Given the description of an element on the screen output the (x, y) to click on. 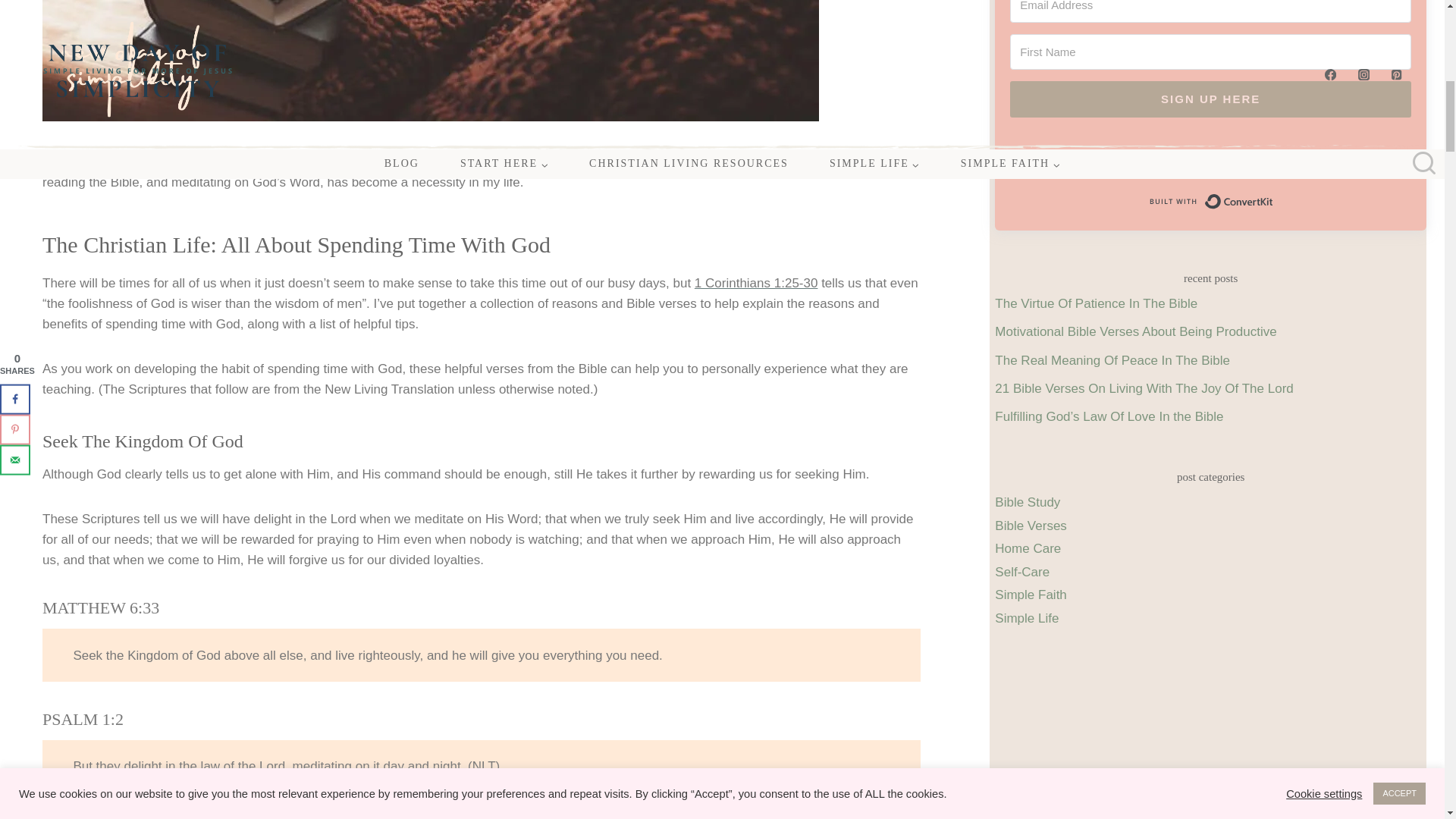
PSALM 1:2 (82, 719)
MATTHEW 6:33 (100, 607)
1 Corinthians 1:25-30 (756, 283)
